Given the description of an element on the screen output the (x, y) to click on. 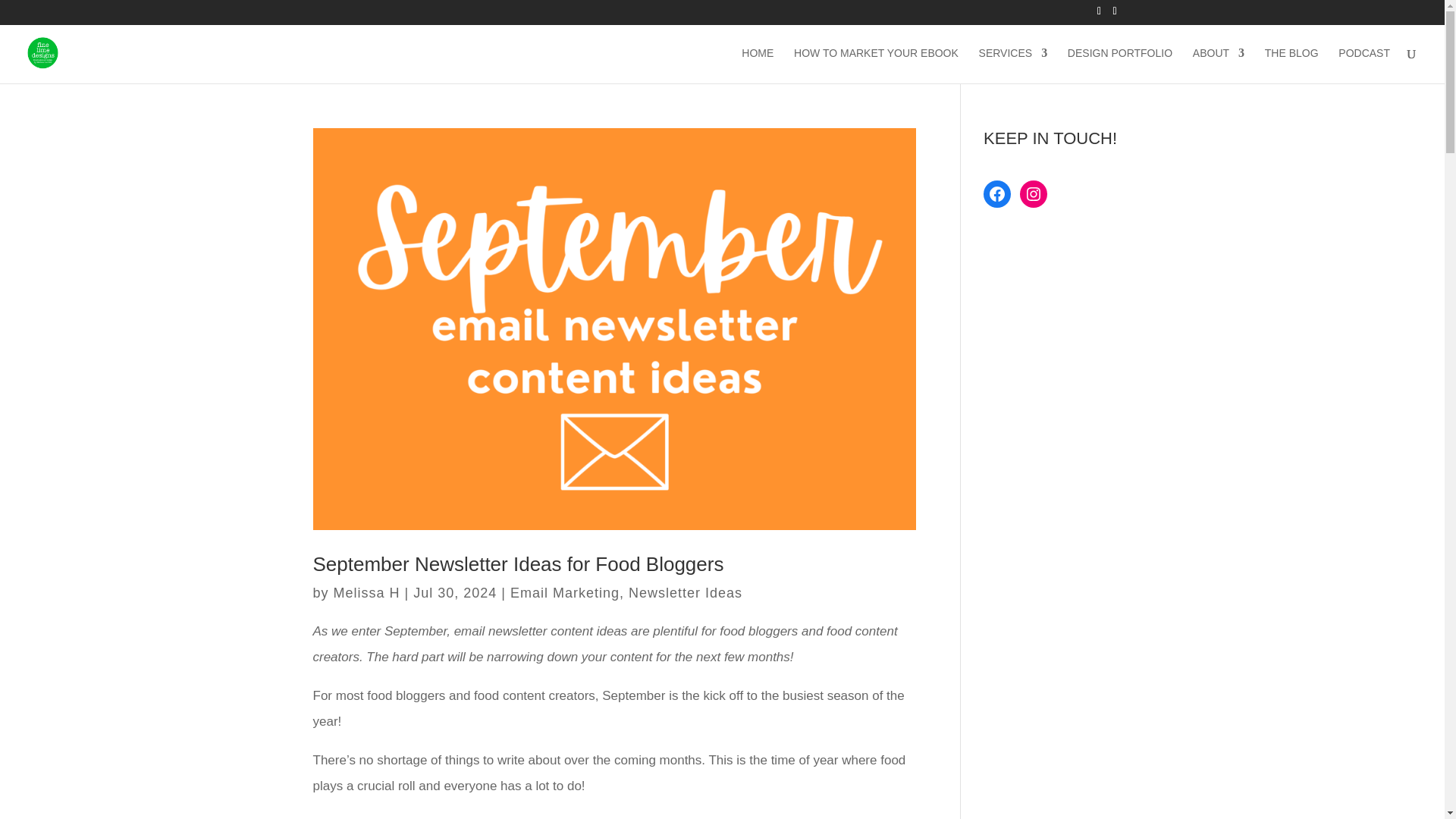
Instagram (1033, 194)
HOME (757, 65)
September Newsletter Ideas for Food Bloggers (518, 563)
Melissa H (366, 592)
DESIGN PORTFOLIO (1119, 65)
PODCAST (1364, 65)
SERVICES (1013, 65)
ABOUT (1218, 65)
HOW TO MARKET YOUR EBOOK (875, 65)
Newsletter Ideas (685, 592)
